Given the description of an element on the screen output the (x, y) to click on. 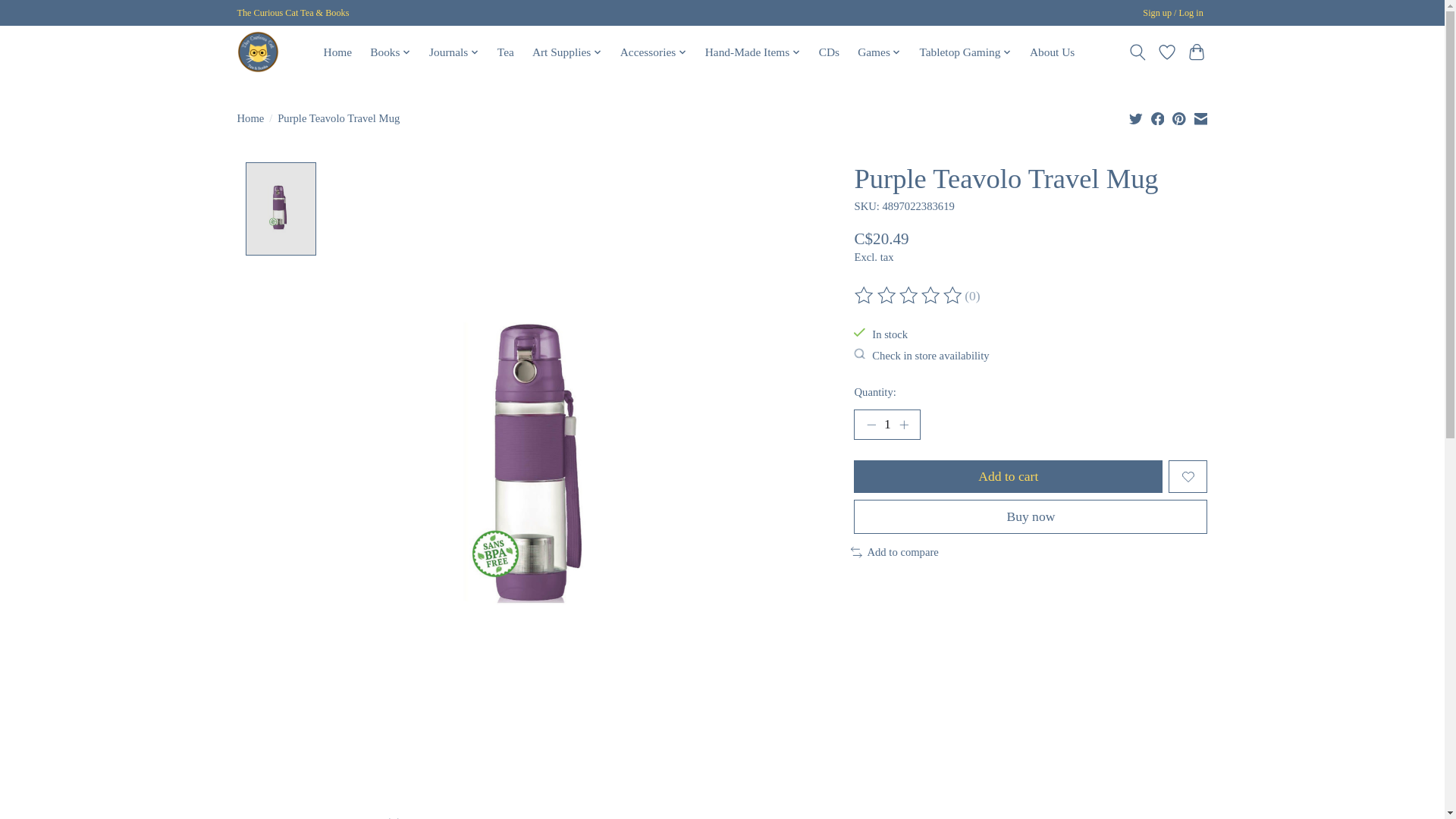
The Curious Cat Tea and Books (256, 51)
Home (336, 52)
Share on Facebook (1157, 118)
My account (1173, 13)
Share on Pinterest (1178, 118)
1 (886, 424)
Share by Email (1200, 118)
Share on Twitter (1135, 118)
Books (390, 52)
